Given the description of an element on the screen output the (x, y) to click on. 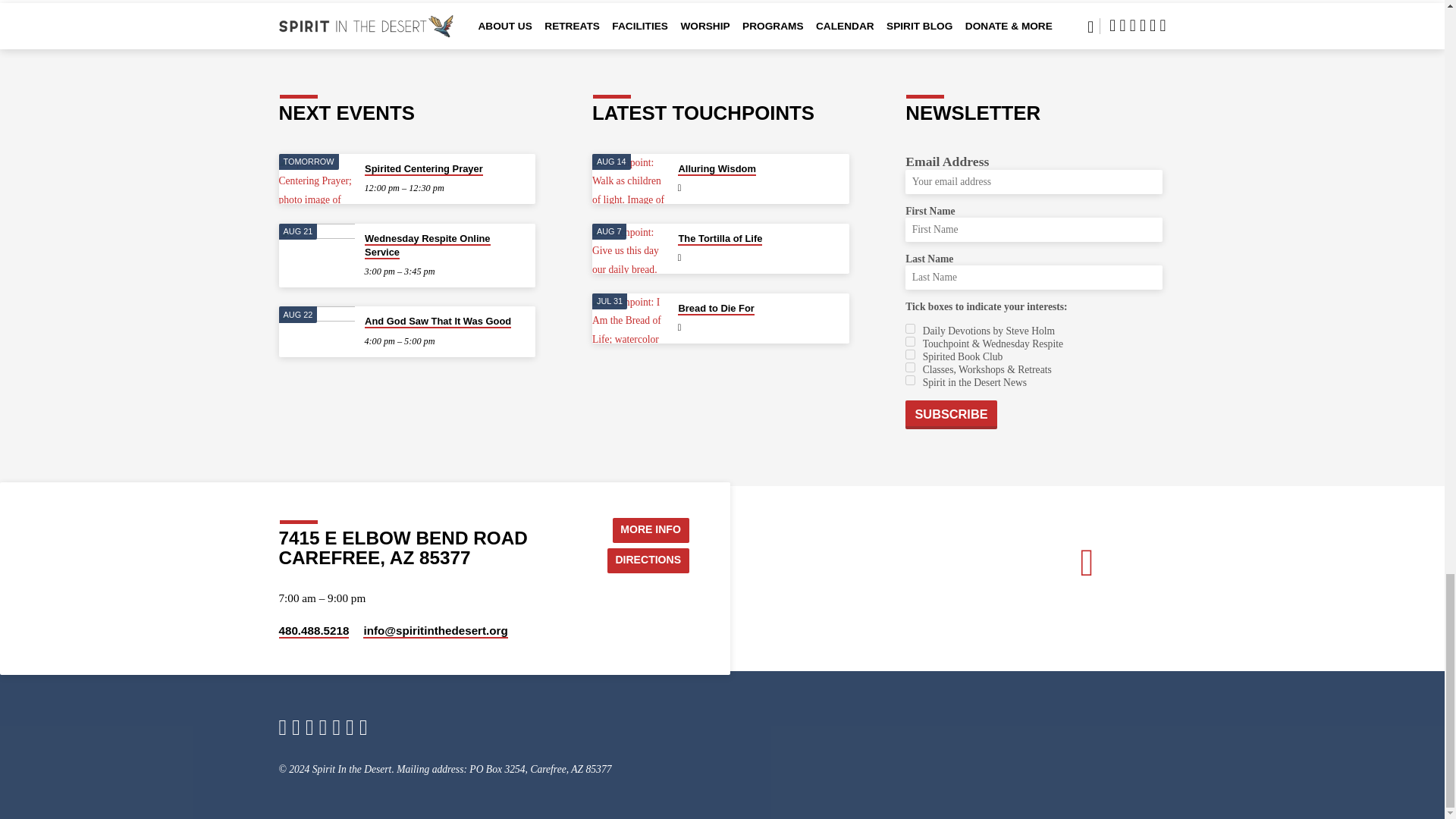
Subscribe (951, 414)
e15f548fa0 (910, 367)
44e0e54a7c (910, 341)
f19ab91031 (910, 328)
db06863268 (910, 379)
451e56ae58 (910, 354)
